Given the description of an element on the screen output the (x, y) to click on. 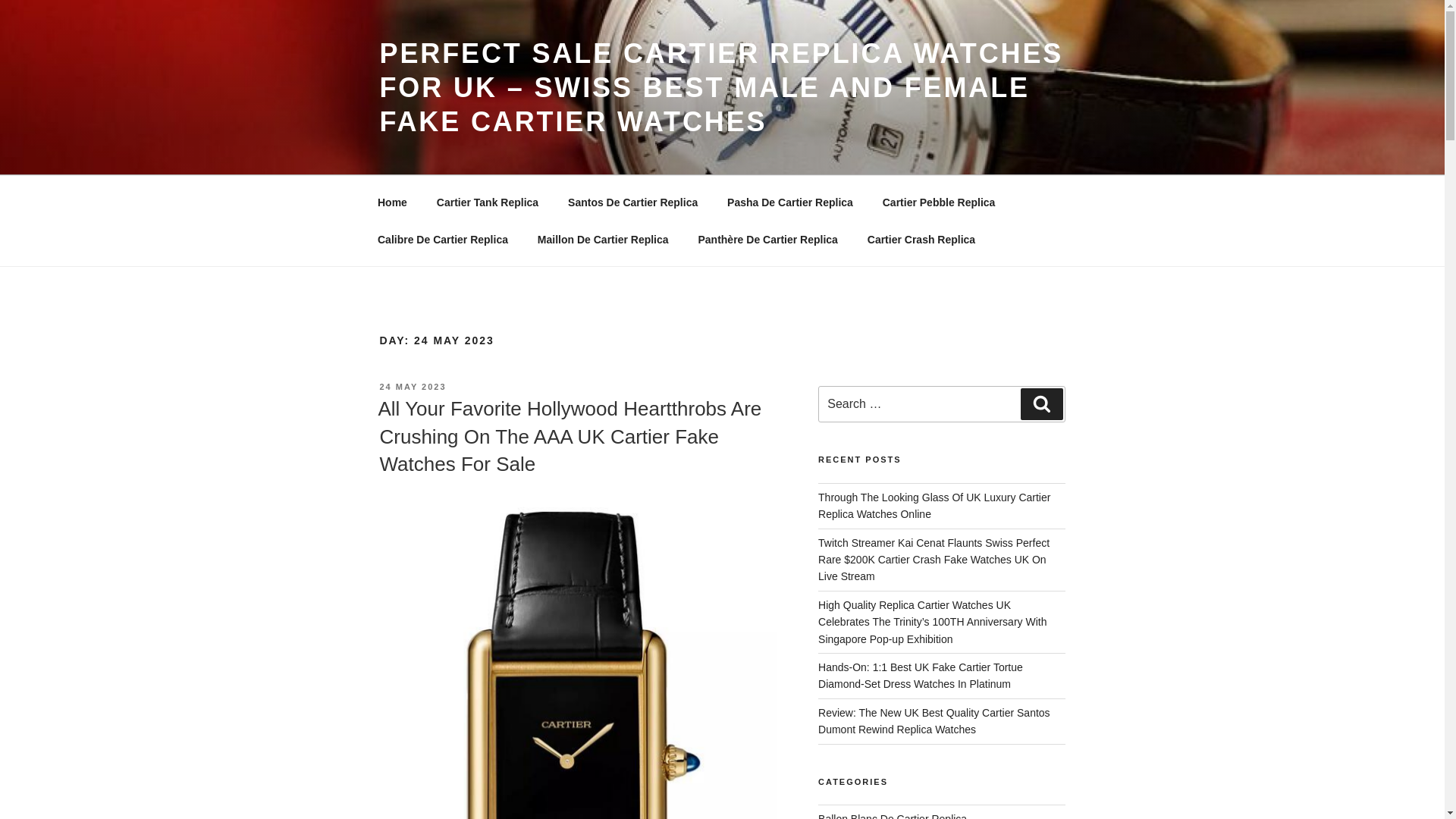
Santos De Cartier Replica (632, 201)
Pasha De Cartier Replica (790, 201)
Ballon Blanc De Cartier Replica (892, 816)
Search (1041, 404)
Cartier Tank Replica (487, 201)
Calibre De Cartier Replica (442, 239)
Cartier Crash Replica (920, 239)
